Given the description of an element on the screen output the (x, y) to click on. 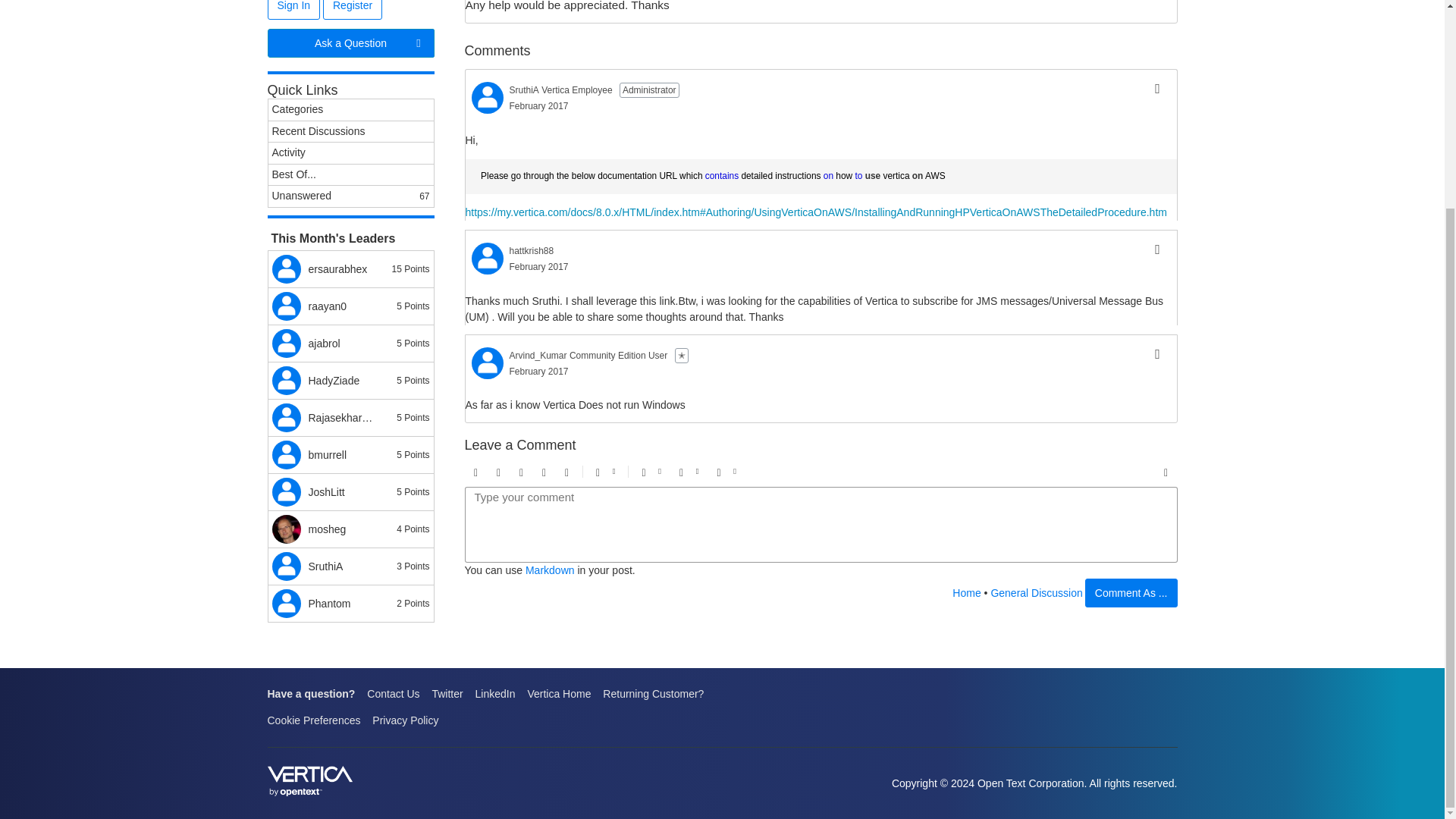
February 20, 2017 1:56PM (539, 371)
Level 1 (681, 355)
hattkrish88 (487, 258)
February 9, 2017 8:06PM (539, 105)
February 10, 2017 5:45AM (539, 266)
Administrator (649, 89)
hattkrish88 (531, 250)
SruthiA (523, 90)
SruthiA (487, 97)
February 2017 (539, 105)
February 2017 (539, 371)
Italic (498, 472)
Strikethrough (521, 472)
Bold (475, 472)
February 2017 (539, 266)
